Given the description of an element on the screen output the (x, y) to click on. 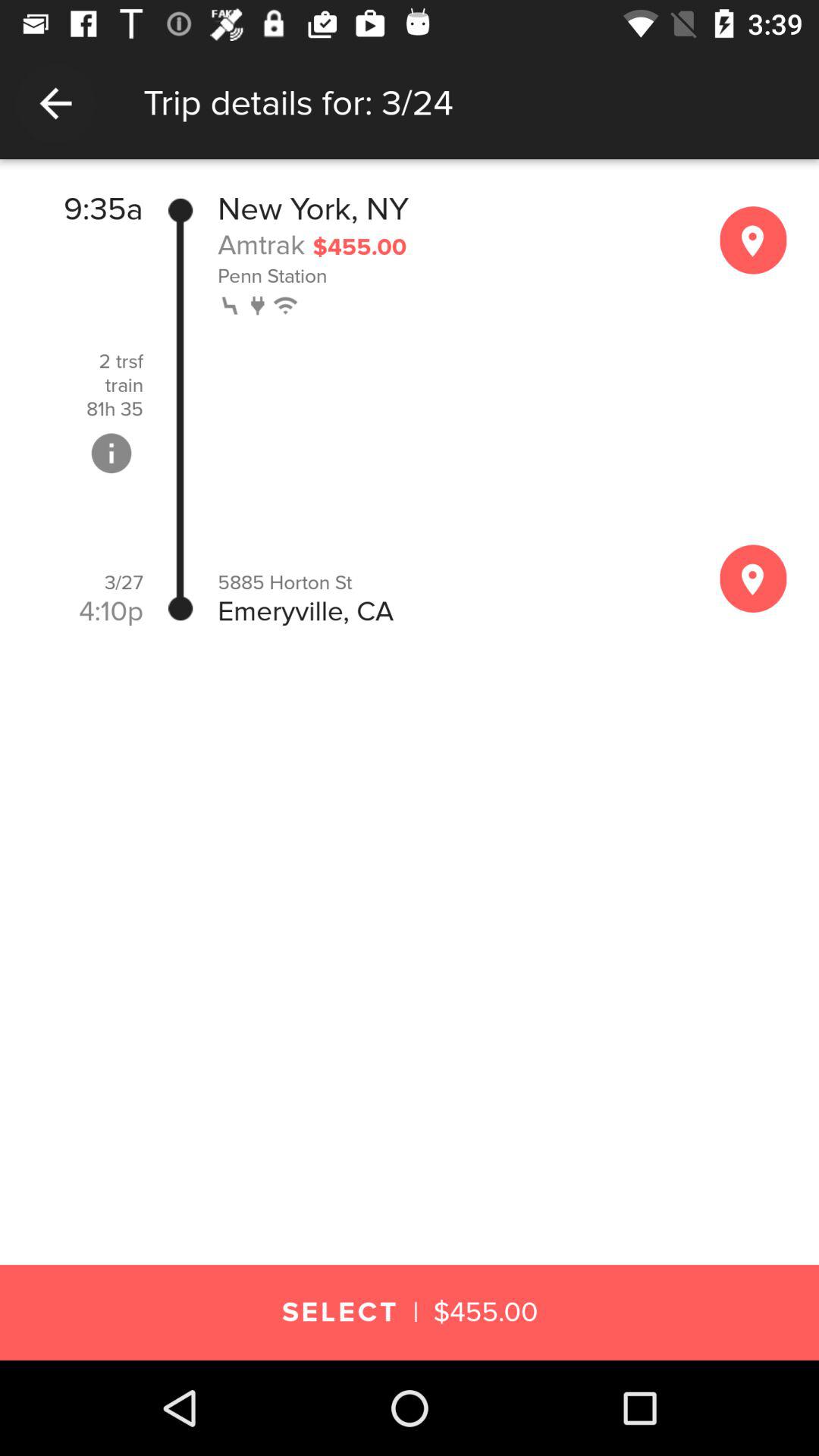
place identity icon (753, 240)
